Given the description of an element on the screen output the (x, y) to click on. 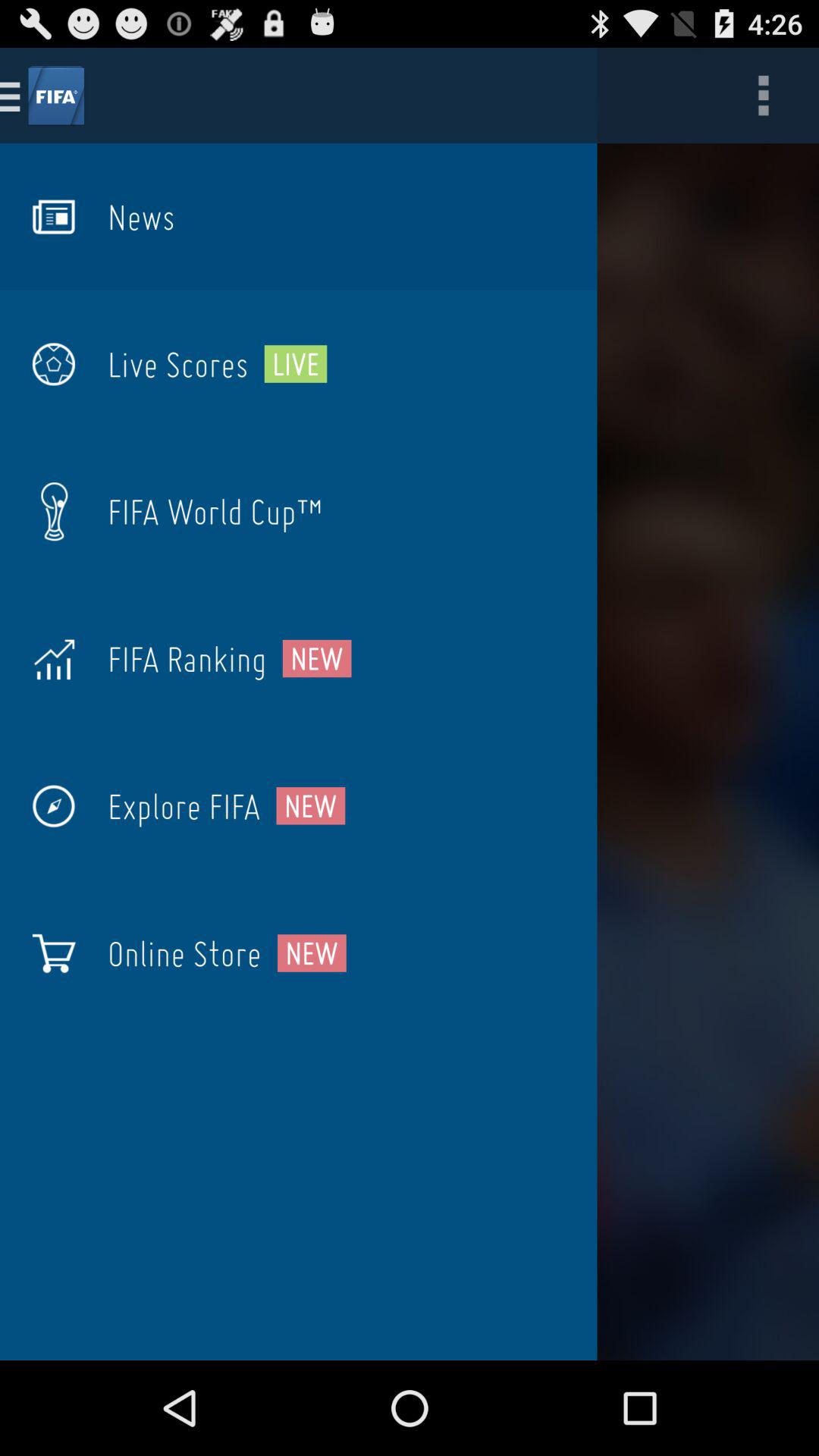
click icon at the top right corner (763, 95)
